Given the description of an element on the screen output the (x, y) to click on. 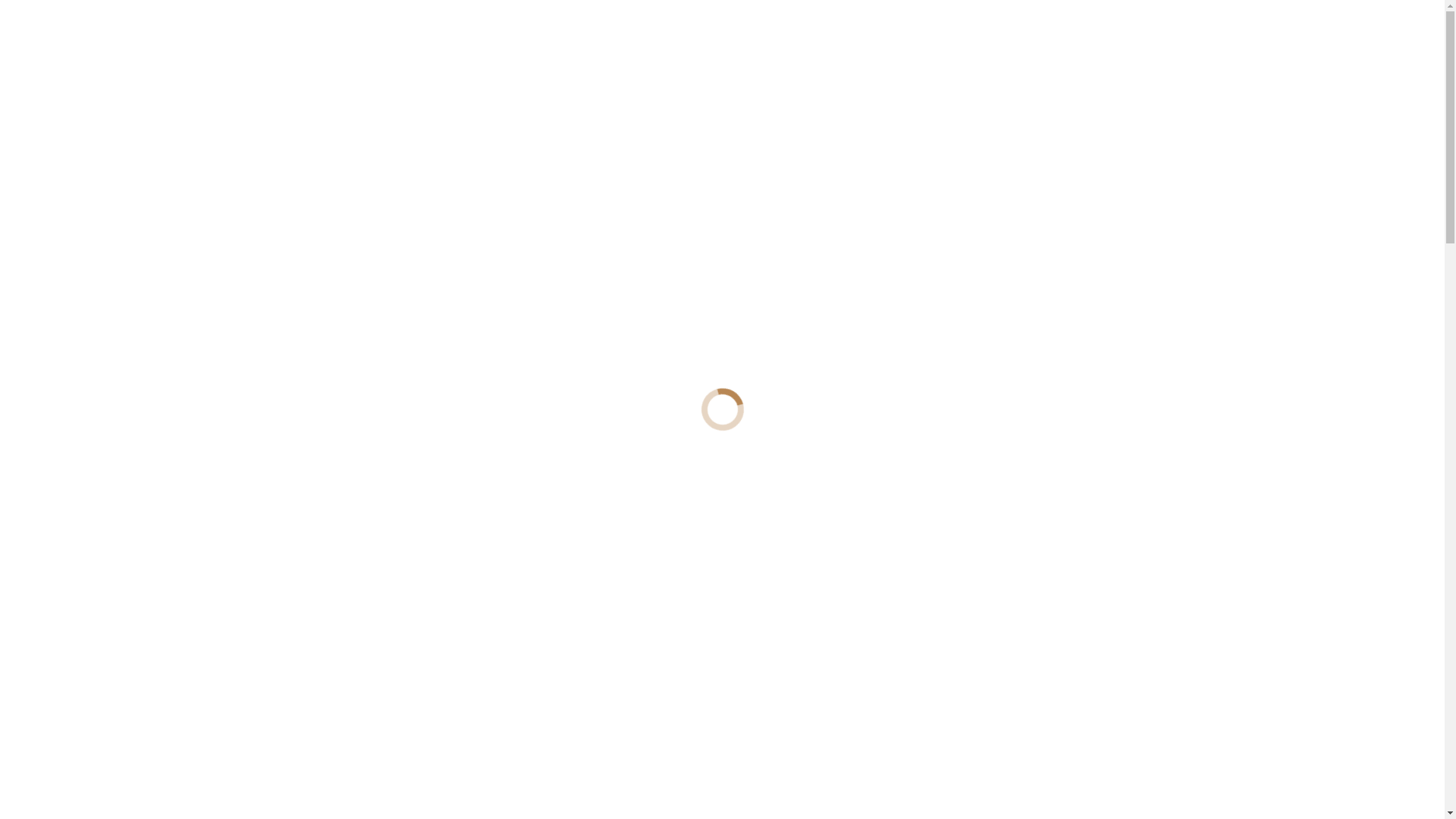
JETZT LOSLEGEN Element type: text (363, 389)
Login Element type: text (1112, 30)
Registrieren Element type: text (1017, 30)
